Given the description of an element on the screen output the (x, y) to click on. 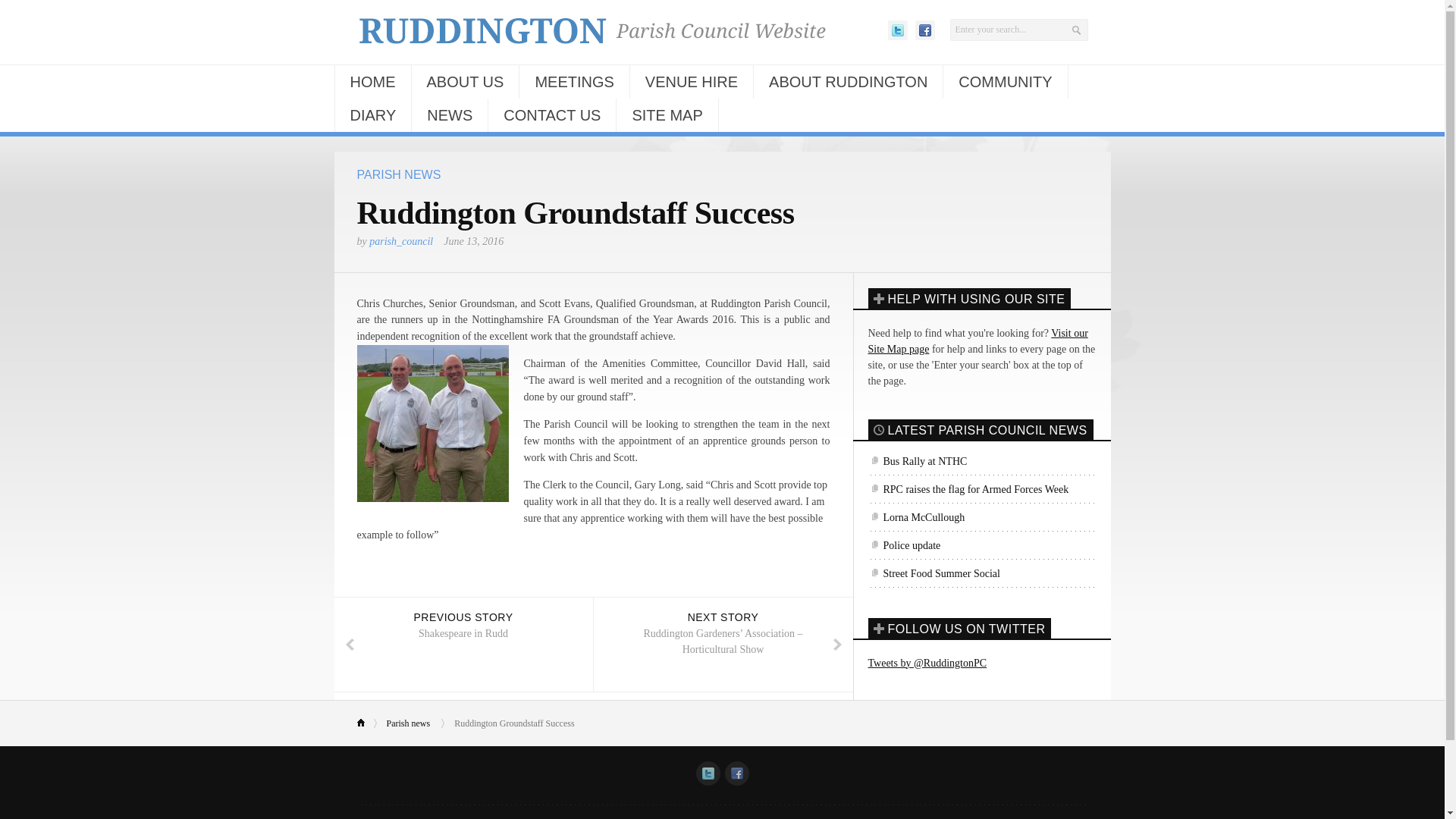
Site map (977, 340)
MEETINGS (573, 81)
search (1018, 29)
Enter your search... (1018, 29)
ABOUT US (464, 81)
VENUE HIRE (691, 81)
HOME (372, 81)
